Given the description of an element on the screen output the (x, y) to click on. 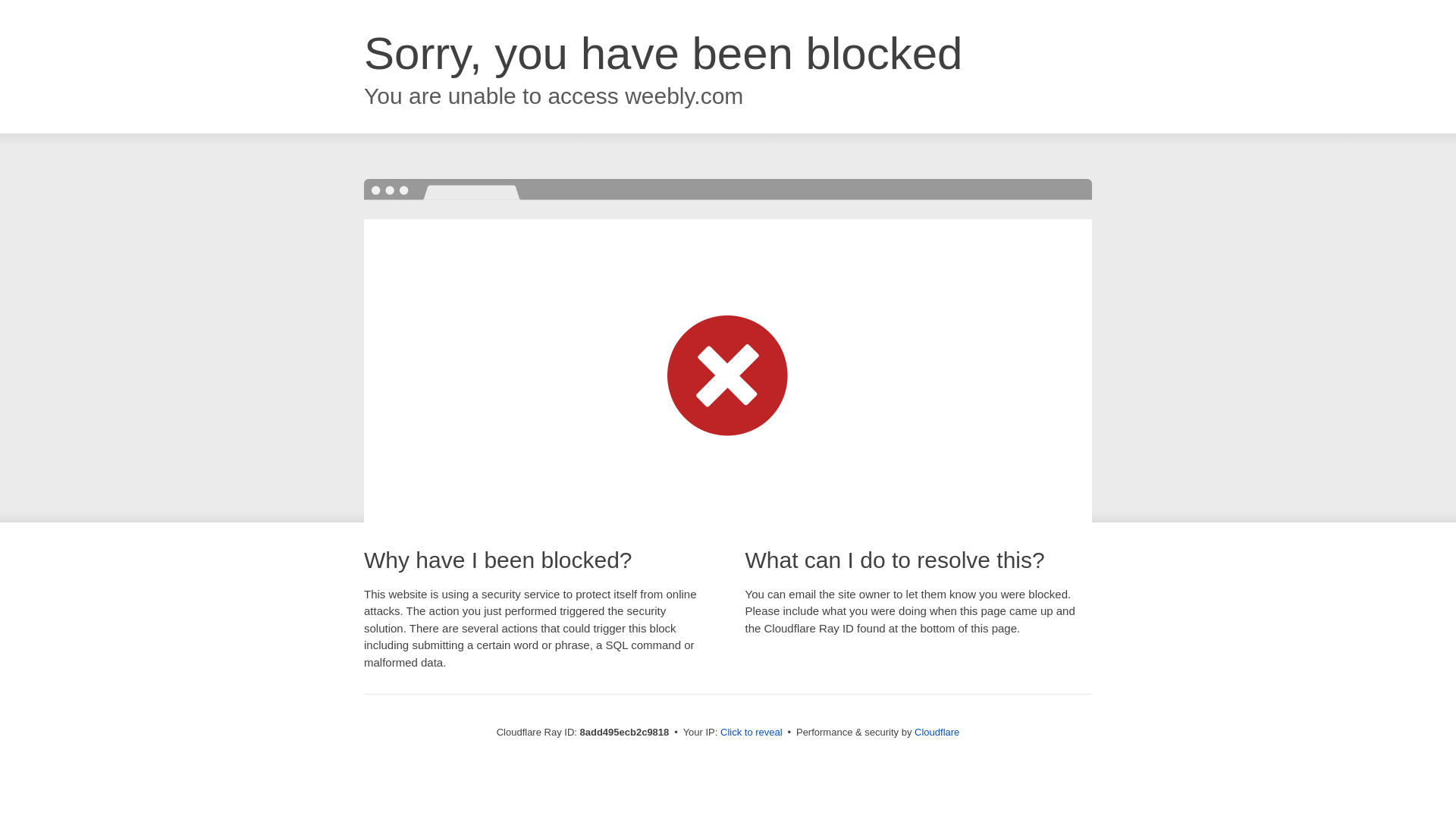
Cloudflare (936, 731)
Click to reveal (751, 732)
